Given the description of an element on the screen output the (x, y) to click on. 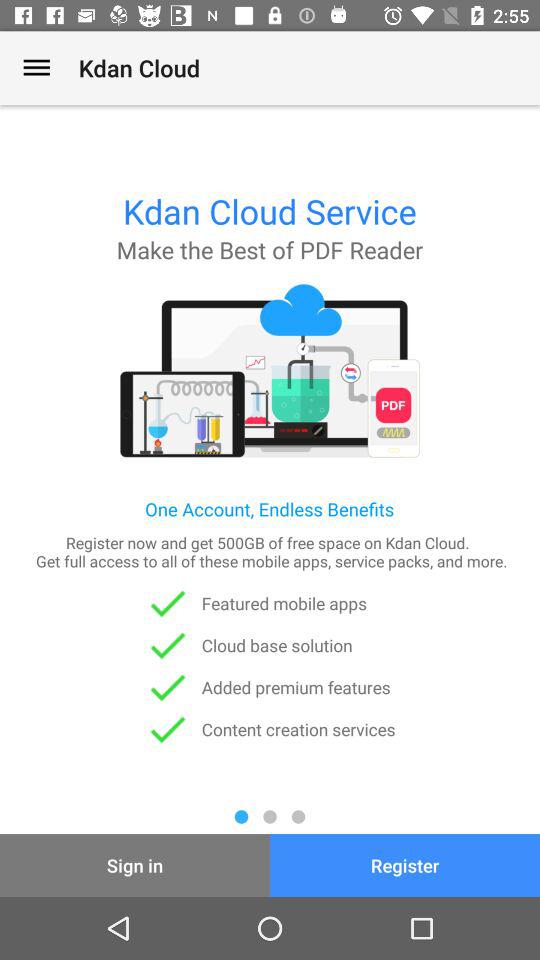
click item next to register icon (135, 864)
